Given the description of an element on the screen output the (x, y) to click on. 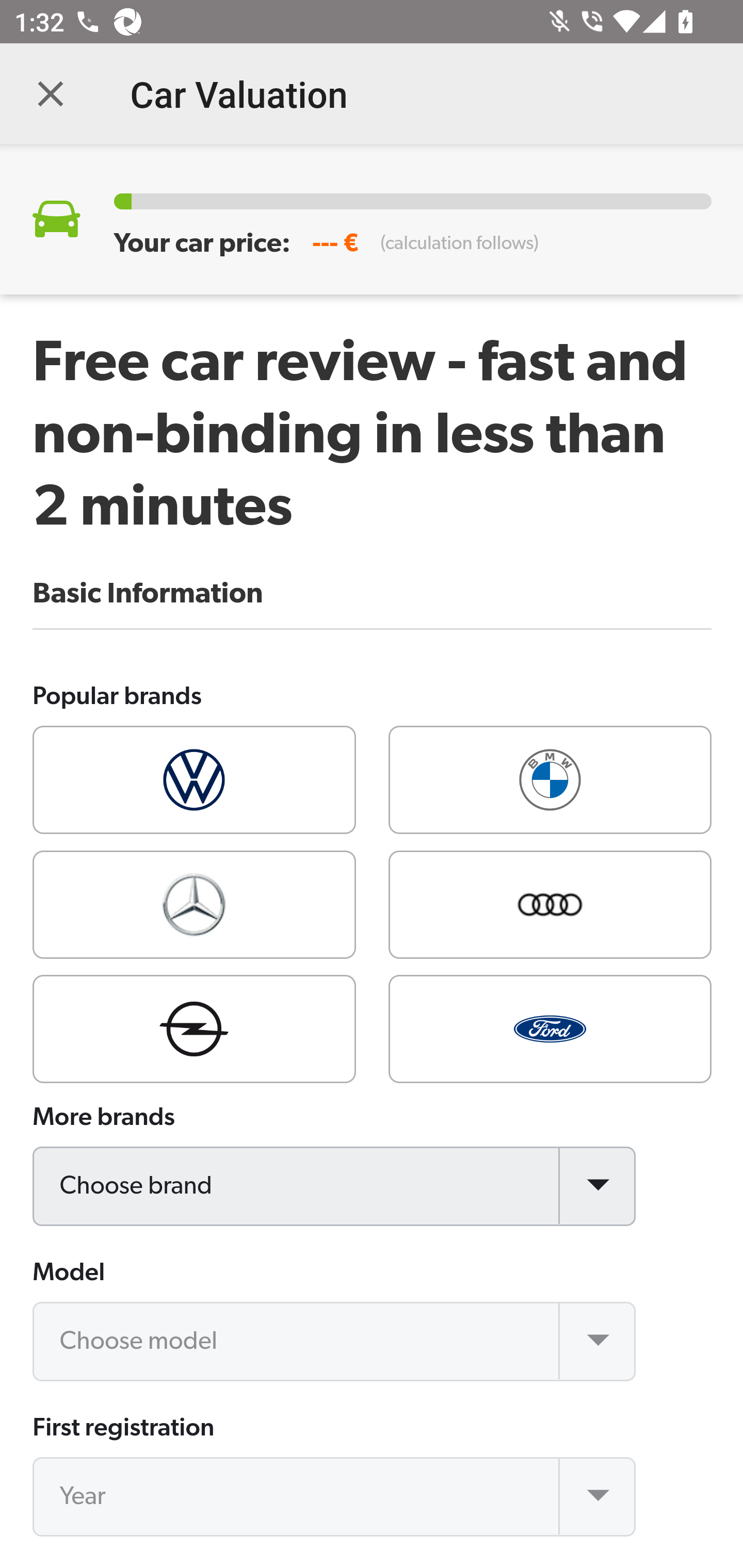
Navigate up (50, 93)
Choose brand (334, 1185)
Choose model (334, 1340)
Year (334, 1496)
Month (334, 1567)
